Given the description of an element on the screen output the (x, y) to click on. 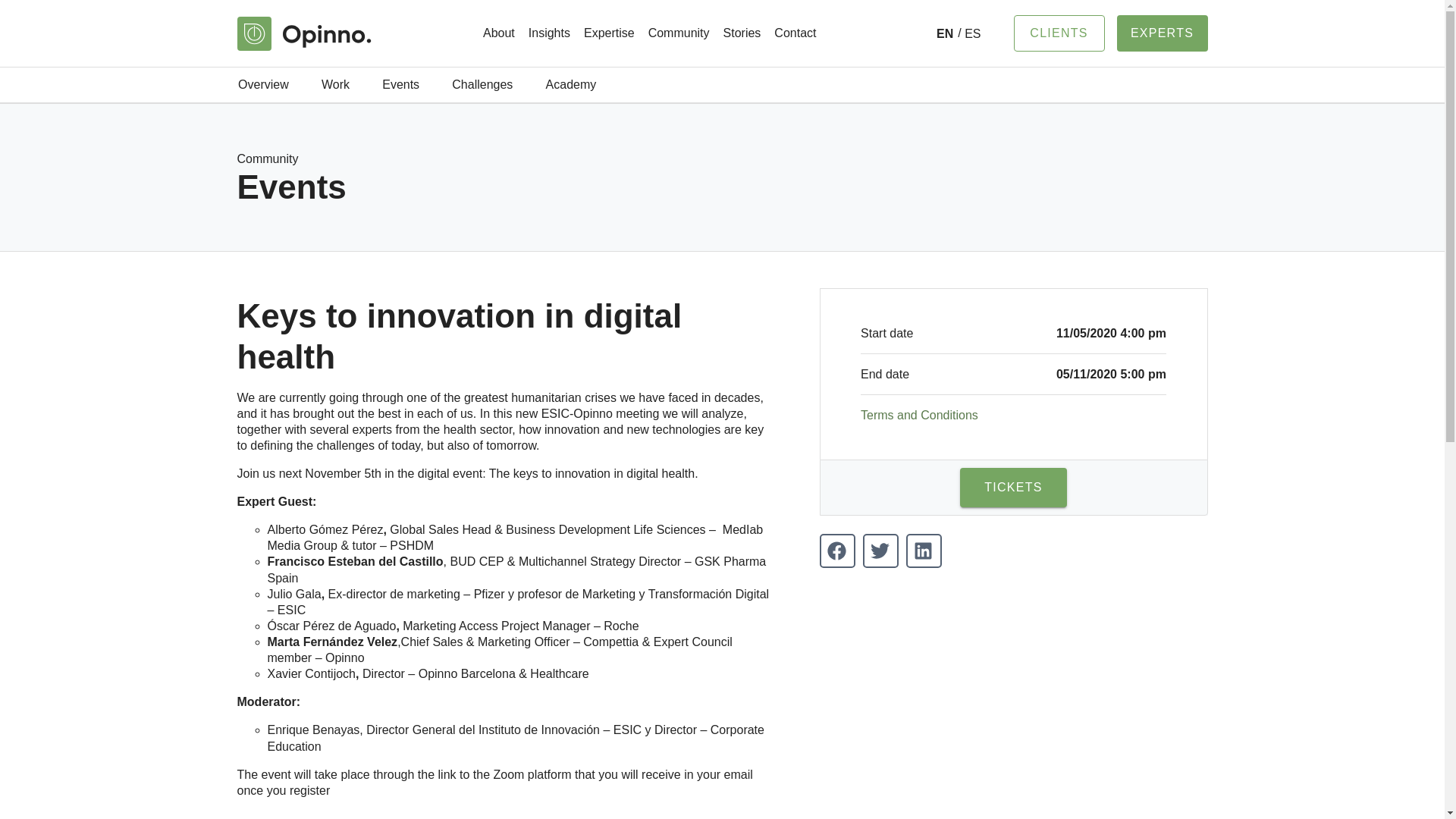
Contact (794, 32)
Academy (570, 84)
Expertise (609, 32)
EN (944, 33)
Community (679, 32)
ES (968, 33)
Events (400, 84)
Stories (742, 32)
CLIENTS (1058, 33)
Overview (262, 84)
About (498, 32)
EXPERTS (1161, 33)
Challenges (482, 84)
Insights (548, 32)
